Given the description of an element on the screen output the (x, y) to click on. 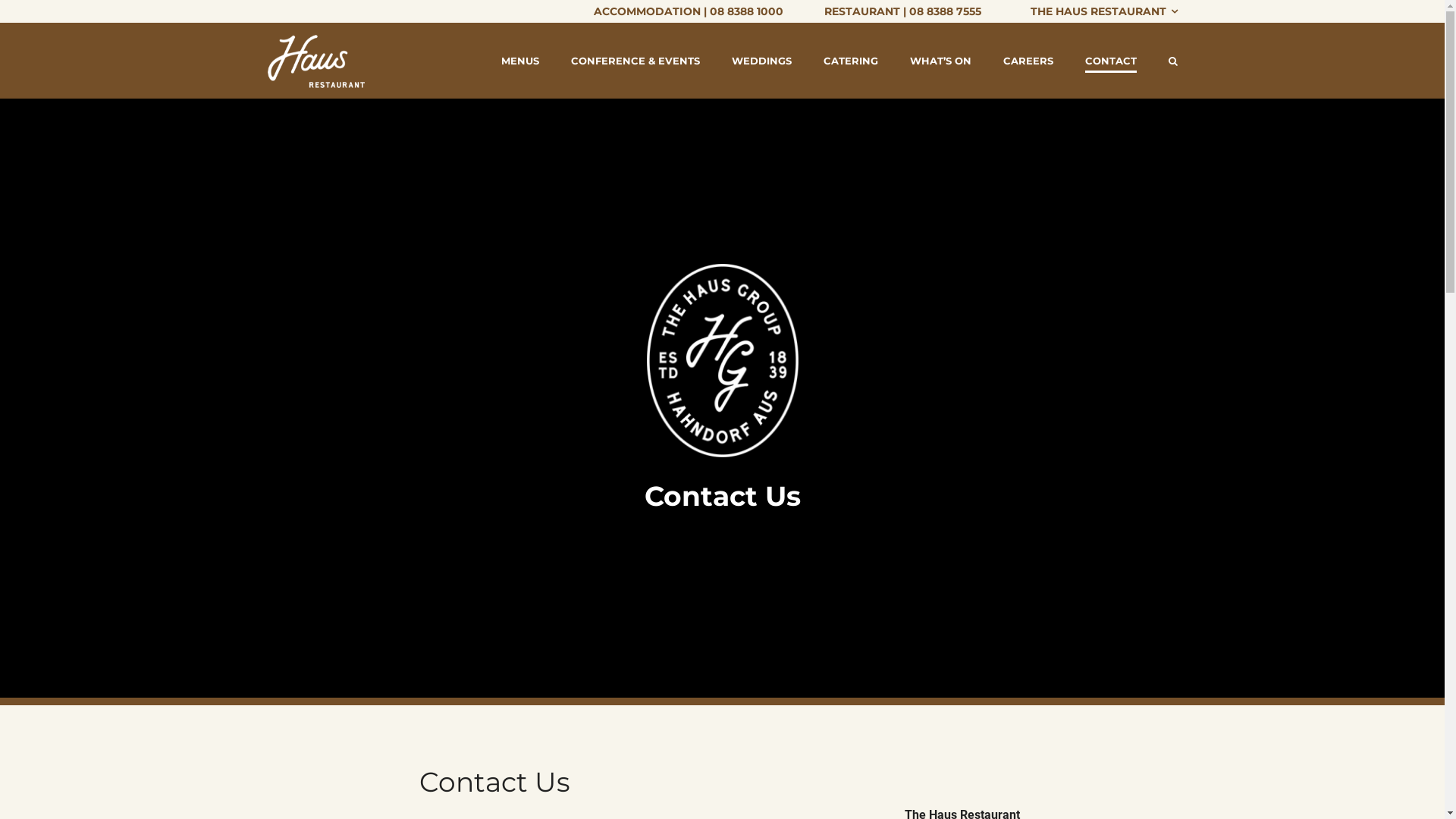
CATERING Element type: text (850, 60)
08 8388 7555 Element type: text (944, 11)
MENUS Element type: text (519, 60)
WEDDINGS Element type: text (760, 60)
CAREERS Element type: text (1027, 60)
08 8388 1000 Element type: text (746, 11)
CONFERENCE & EVENTS Element type: text (634, 60)
CONTACT Element type: text (1109, 60)
